Given the description of an element on the screen output the (x, y) to click on. 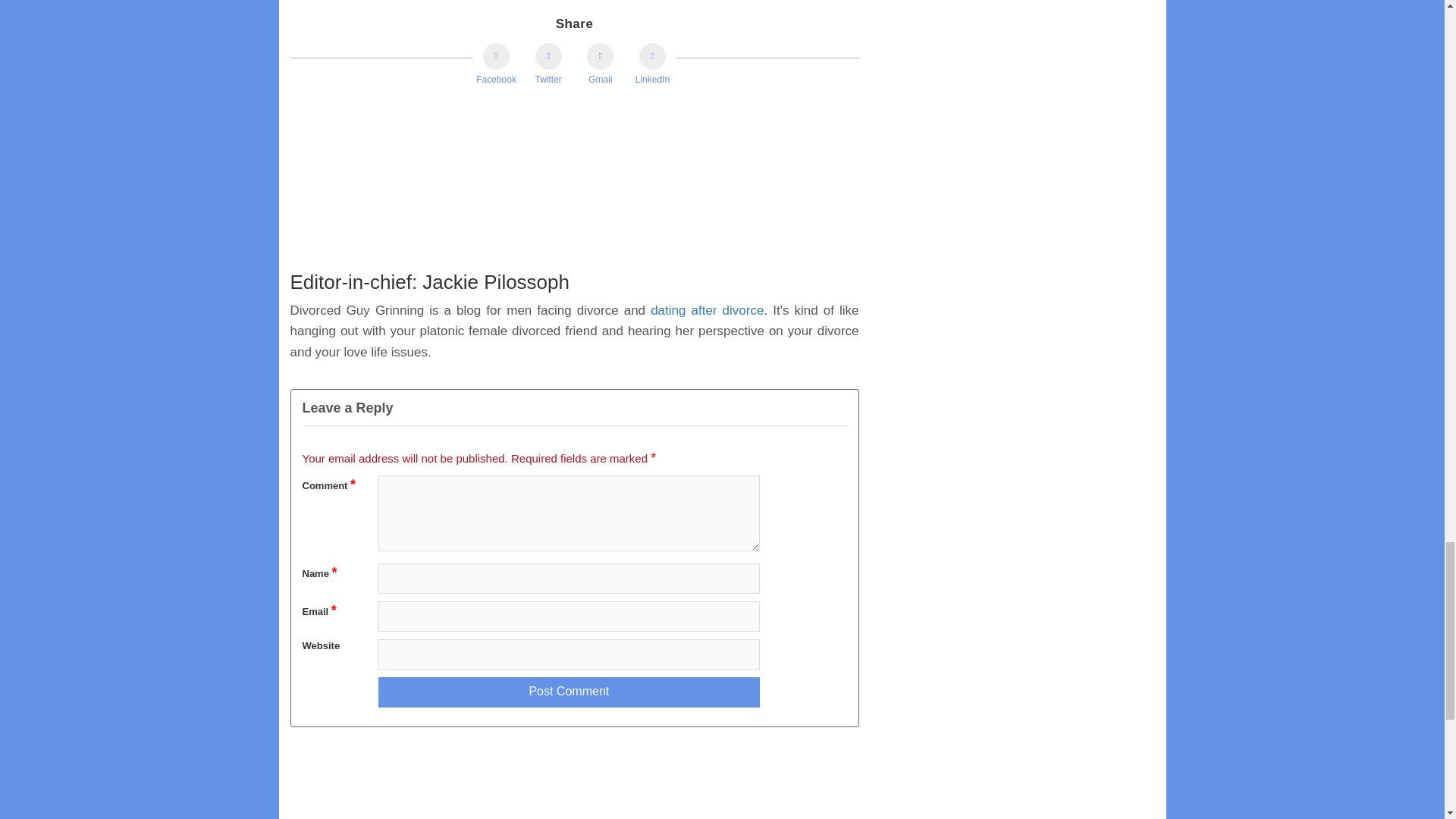
dating after divorce (706, 310)
LinkedIn (652, 64)
Twitter (548, 64)
Post Comment (569, 692)
Facebook (496, 64)
Gmail (599, 64)
Post Comment (569, 692)
